Given the description of an element on the screen output the (x, y) to click on. 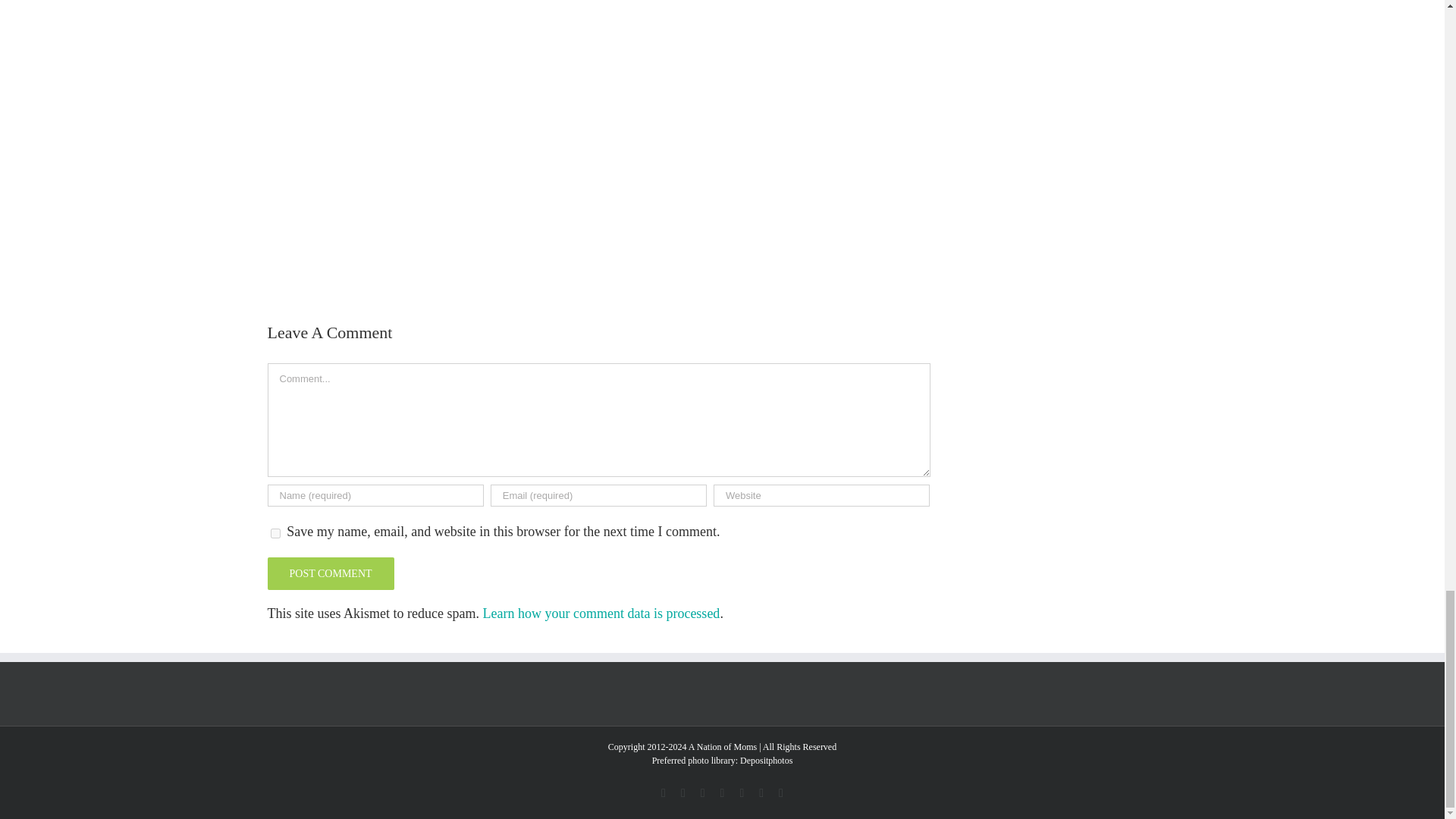
Post Comment (329, 573)
yes (274, 533)
